Given the description of an element on the screen output the (x, y) to click on. 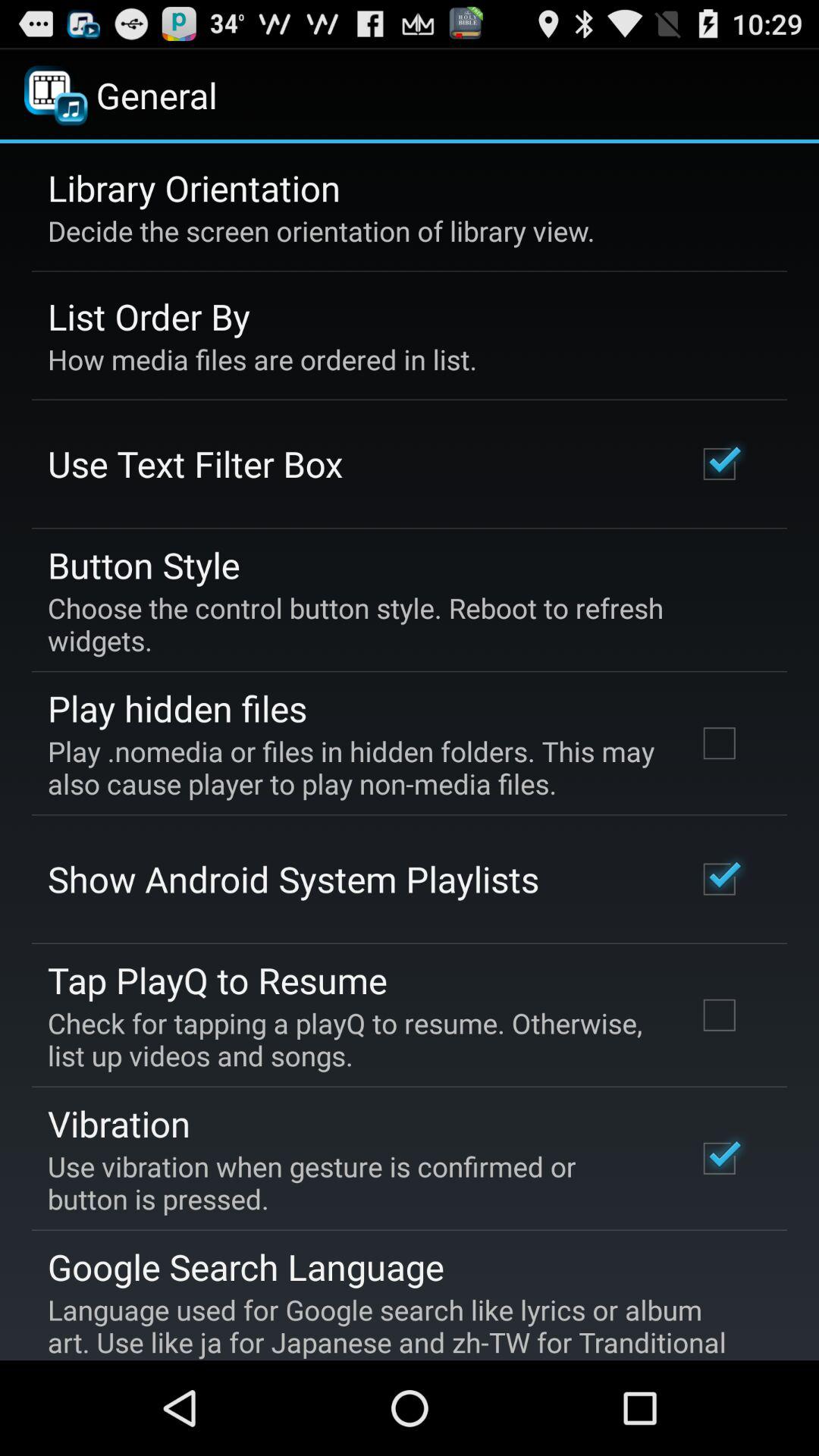
press icon below the decide the screen icon (148, 316)
